Given the description of an element on the screen output the (x, y) to click on. 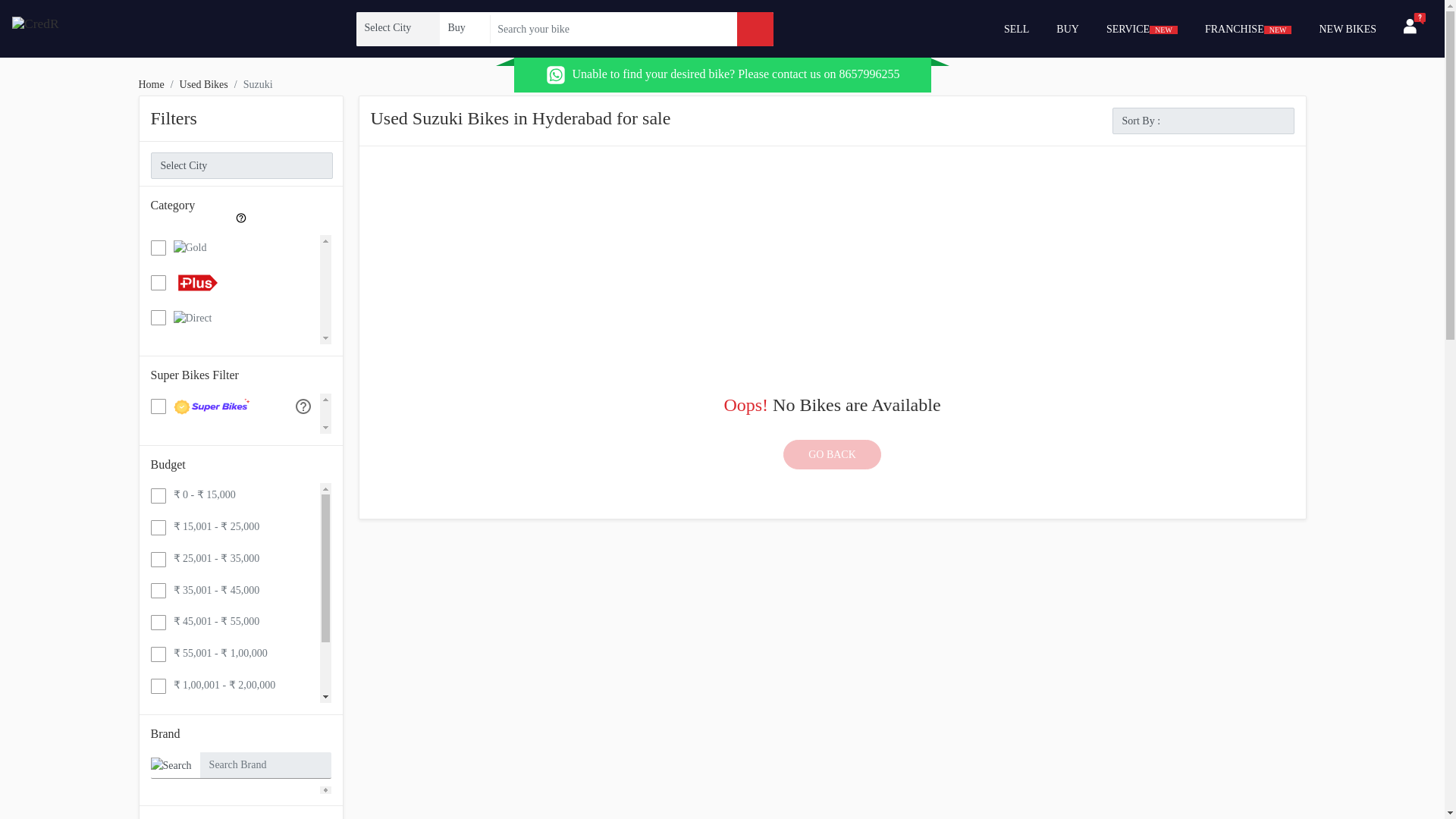
GO BACK (831, 454)
NEW BIKES (1347, 28)
Select Option (397, 27)
BUY (1067, 28)
SELL (1015, 28)
FRANCHISENEW (1248, 28)
SERVICENEW (1142, 28)
Select Option (463, 27)
